Given the description of an element on the screen output the (x, y) to click on. 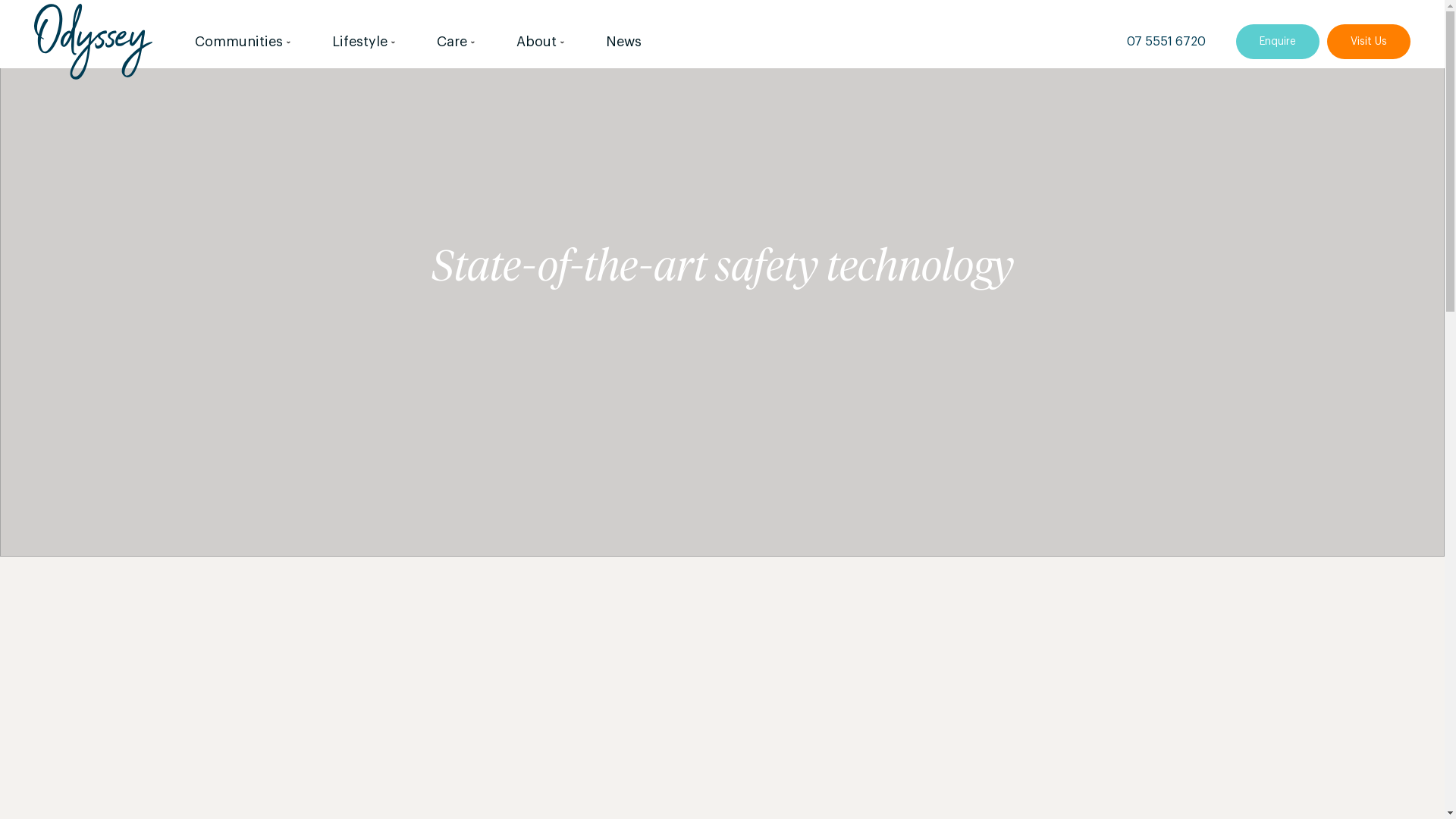
Communities Element type: text (243, 41)
About Element type: text (541, 41)
Care Element type: text (456, 41)
Visit Us Element type: text (1368, 41)
07 5551 6720 Element type: text (1165, 47)
News Element type: text (623, 41)
Enquire Element type: text (1277, 41)
Lifestyle Element type: text (364, 41)
